Given the description of an element on the screen output the (x, y) to click on. 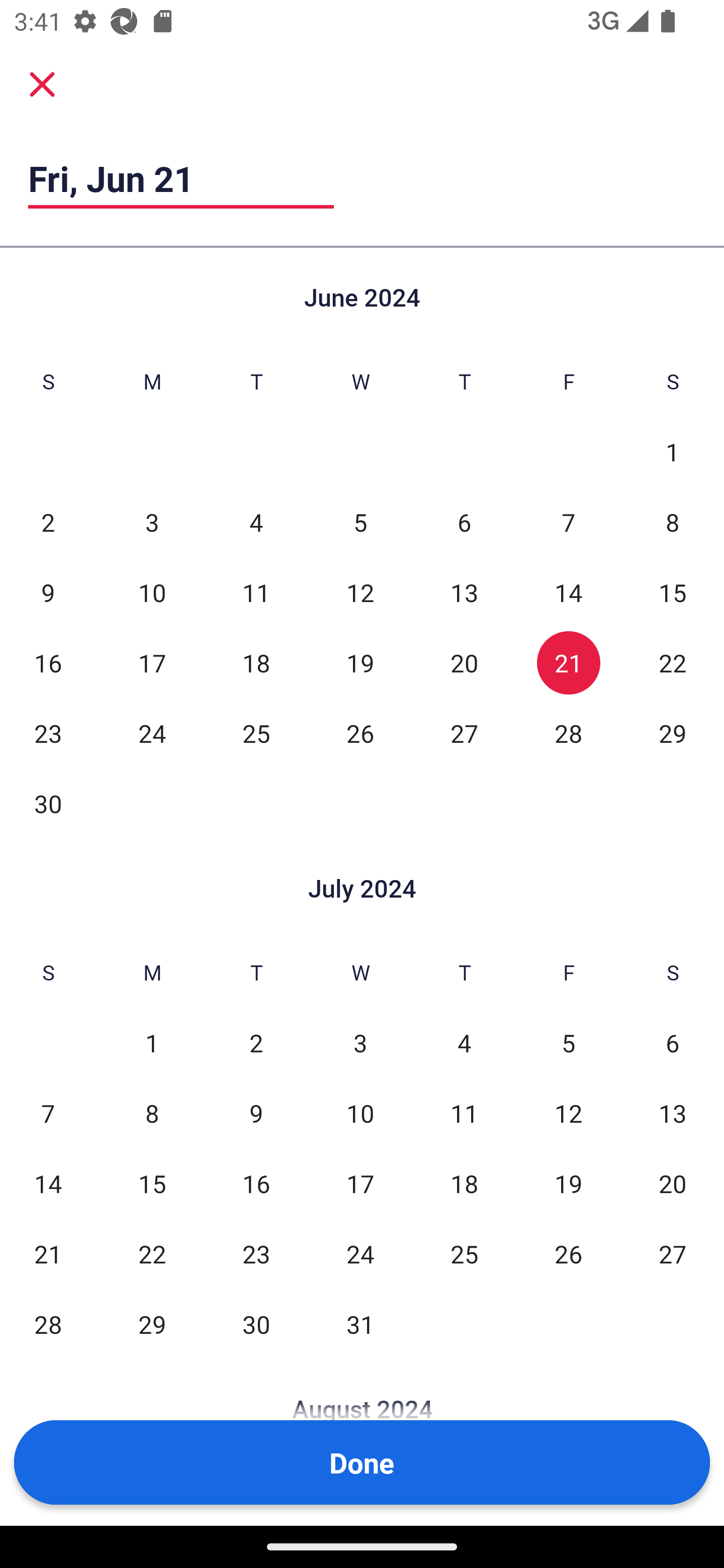
Cancel (41, 83)
Fri, Jun 21 (180, 178)
1 Sat, Jun 1, Not Selected (672, 452)
2 Sun, Jun 2, Not Selected (48, 521)
3 Mon, Jun 3, Not Selected (152, 521)
4 Tue, Jun 4, Not Selected (256, 521)
5 Wed, Jun 5, Not Selected (360, 521)
6 Thu, Jun 6, Not Selected (464, 521)
7 Fri, Jun 7, Not Selected (568, 521)
8 Sat, Jun 8, Not Selected (672, 521)
9 Sun, Jun 9, Not Selected (48, 591)
10 Mon, Jun 10, Not Selected (152, 591)
11 Tue, Jun 11, Not Selected (256, 591)
12 Wed, Jun 12, Not Selected (360, 591)
13 Thu, Jun 13, Not Selected (464, 591)
14 Fri, Jun 14, Not Selected (568, 591)
15 Sat, Jun 15, Not Selected (672, 591)
16 Sun, Jun 16, Not Selected (48, 662)
17 Mon, Jun 17, Not Selected (152, 662)
18 Tue, Jun 18, Not Selected (256, 662)
19 Wed, Jun 19, Not Selected (360, 662)
20 Thu, Jun 20, Not Selected (464, 662)
21 Fri, Jun 21, Selected (568, 662)
22 Sat, Jun 22, Not Selected (672, 662)
23 Sun, Jun 23, Not Selected (48, 732)
24 Mon, Jun 24, Not Selected (152, 732)
25 Tue, Jun 25, Not Selected (256, 732)
26 Wed, Jun 26, Not Selected (360, 732)
27 Thu, Jun 27, Not Selected (464, 732)
28 Fri, Jun 28, Not Selected (568, 732)
29 Sat, Jun 29, Not Selected (672, 732)
30 Sun, Jun 30, Not Selected (48, 803)
1 Mon, Jul 1, Not Selected (152, 1043)
2 Tue, Jul 2, Not Selected (256, 1043)
3 Wed, Jul 3, Not Selected (360, 1043)
4 Thu, Jul 4, Not Selected (464, 1043)
5 Fri, Jul 5, Not Selected (568, 1043)
6 Sat, Jul 6, Not Selected (672, 1043)
7 Sun, Jul 7, Not Selected (48, 1112)
8 Mon, Jul 8, Not Selected (152, 1112)
9 Tue, Jul 9, Not Selected (256, 1112)
10 Wed, Jul 10, Not Selected (360, 1112)
11 Thu, Jul 11, Not Selected (464, 1112)
12 Fri, Jul 12, Not Selected (568, 1112)
13 Sat, Jul 13, Not Selected (672, 1112)
14 Sun, Jul 14, Not Selected (48, 1182)
15 Mon, Jul 15, Not Selected (152, 1182)
16 Tue, Jul 16, Not Selected (256, 1182)
17 Wed, Jul 17, Not Selected (360, 1182)
18 Thu, Jul 18, Not Selected (464, 1182)
19 Fri, Jul 19, Not Selected (568, 1182)
20 Sat, Jul 20, Not Selected (672, 1182)
21 Sun, Jul 21, Not Selected (48, 1253)
22 Mon, Jul 22, Not Selected (152, 1253)
23 Tue, Jul 23, Not Selected (256, 1253)
24 Wed, Jul 24, Not Selected (360, 1253)
25 Thu, Jul 25, Not Selected (464, 1253)
26 Fri, Jul 26, Not Selected (568, 1253)
27 Sat, Jul 27, Not Selected (672, 1253)
28 Sun, Jul 28, Not Selected (48, 1323)
29 Mon, Jul 29, Not Selected (152, 1323)
30 Tue, Jul 30, Not Selected (256, 1323)
31 Wed, Jul 31, Not Selected (360, 1323)
Done Button Done (361, 1462)
